Given the description of an element on the screen output the (x, y) to click on. 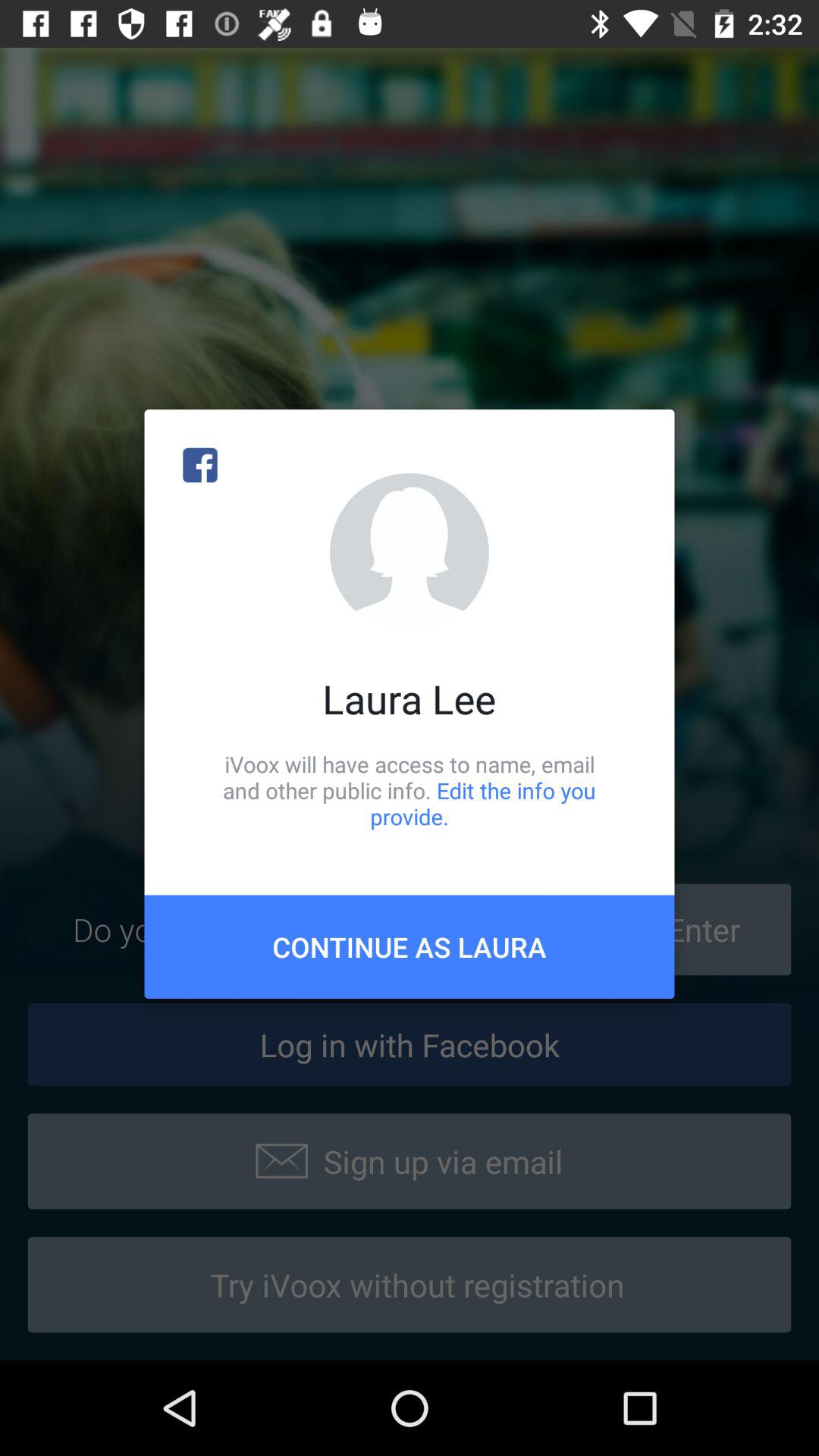
open the icon below the ivoox will have icon (409, 946)
